Given the description of an element on the screen output the (x, y) to click on. 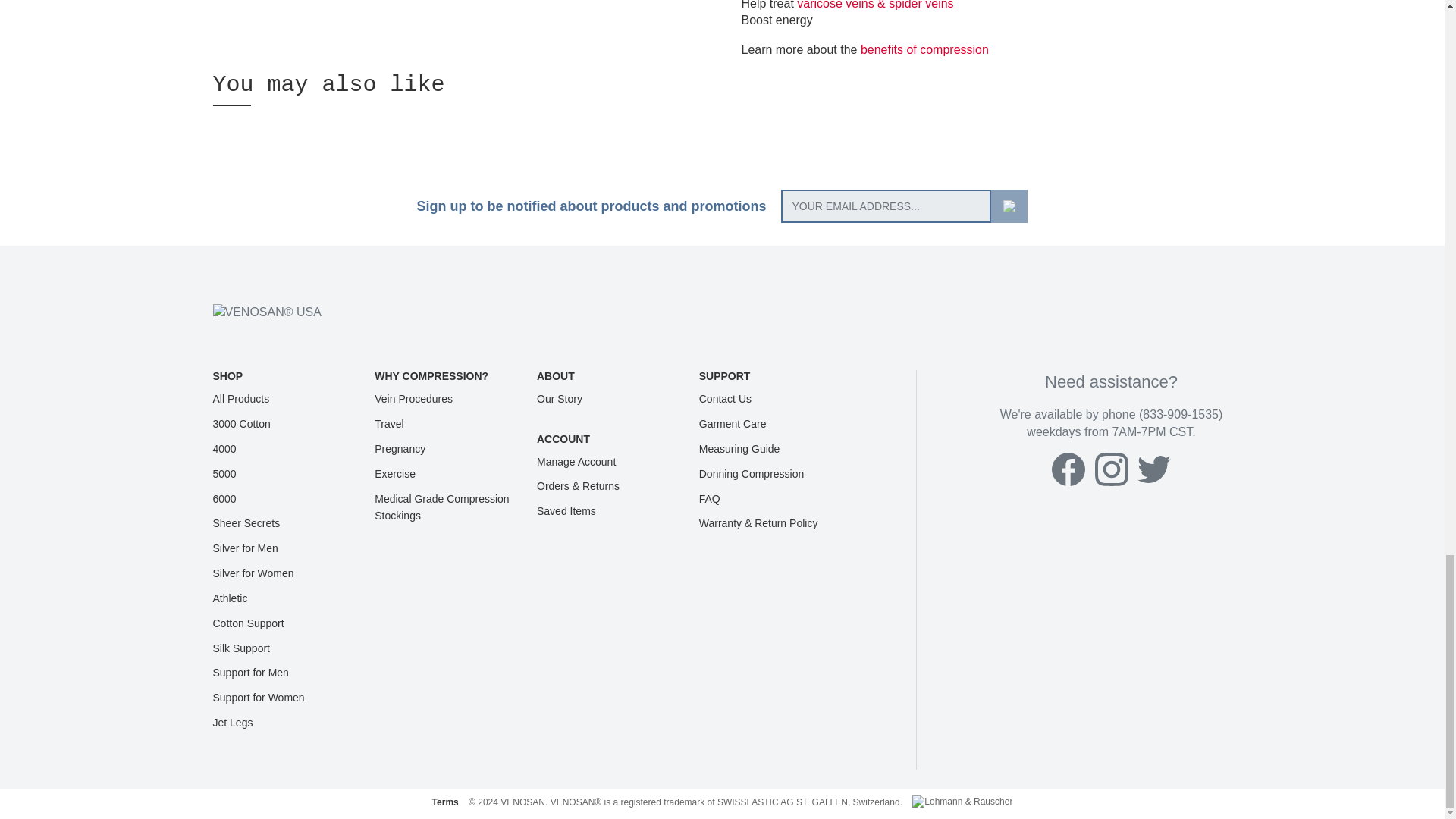
Twitter (1153, 469)
Instagram (1111, 469)
Facebook (1067, 469)
